Given the description of an element on the screen output the (x, y) to click on. 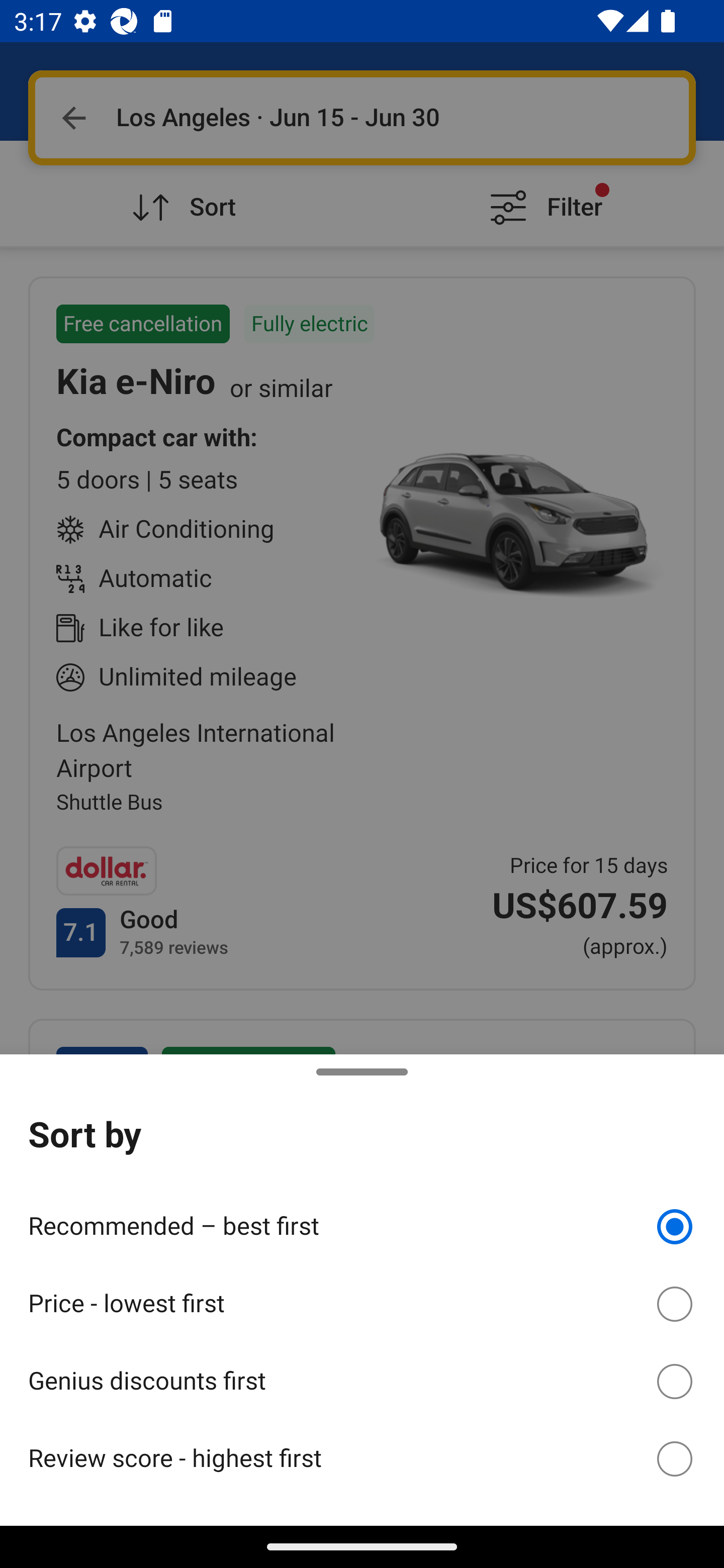
Price - lowest first (361, 1300)
Genius discounts first (361, 1378)
Review score - highest first (361, 1458)
